Given the description of an element on the screen output the (x, y) to click on. 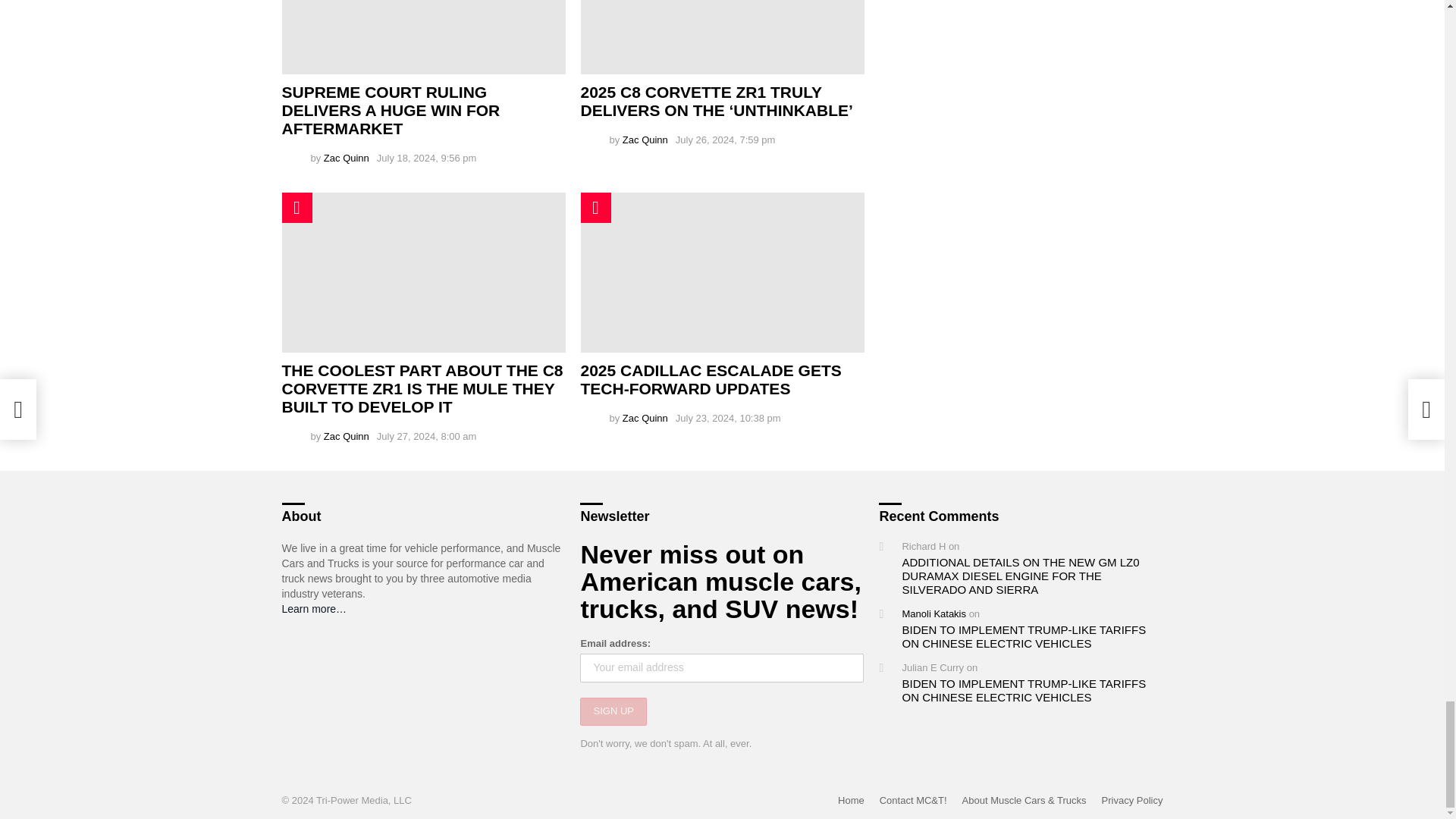
Sign up (612, 711)
